Given the description of an element on the screen output the (x, y) to click on. 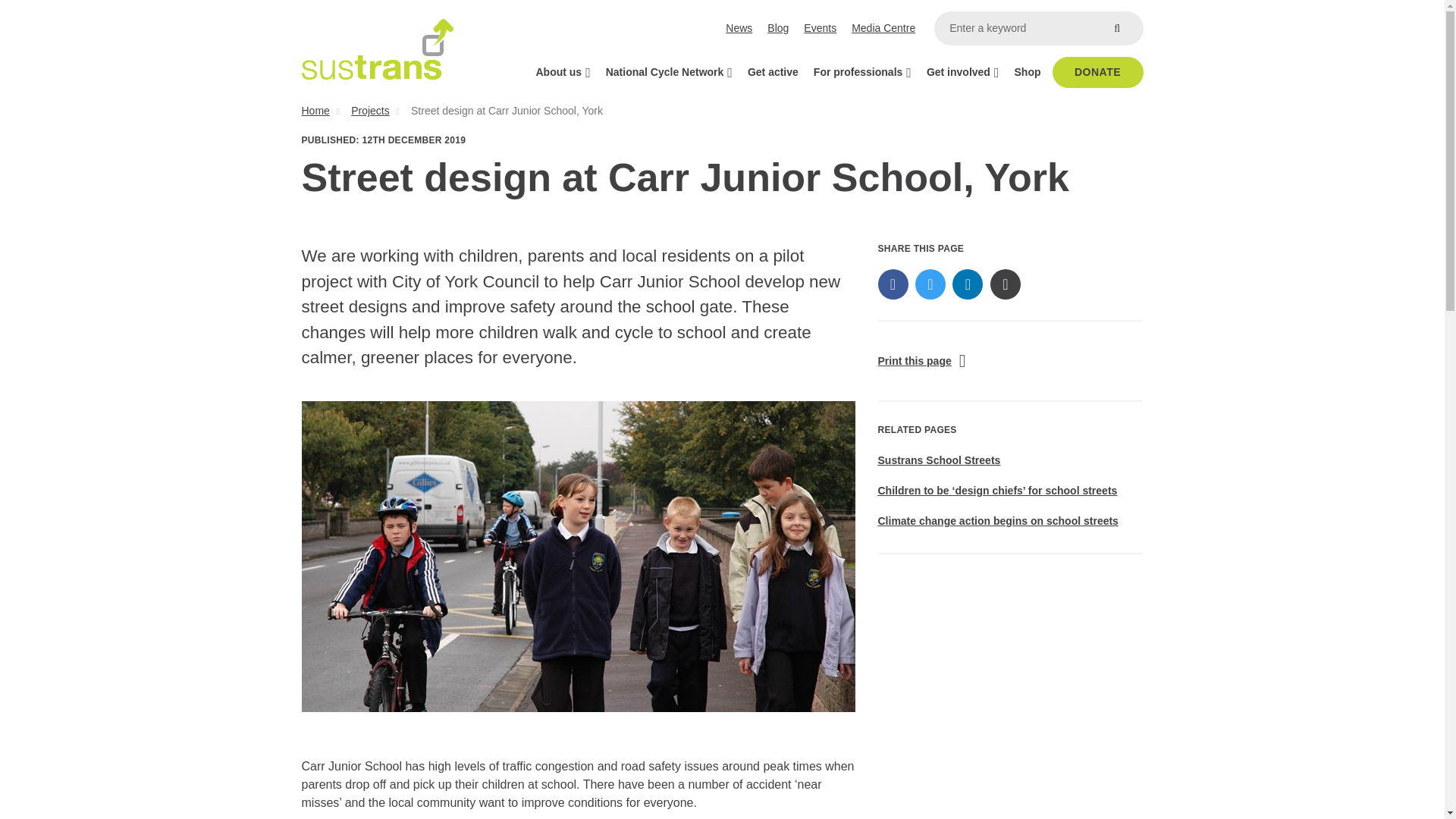
About us (561, 71)
News (738, 28)
SEARCH (1116, 28)
Media Centre (883, 28)
Events (820, 28)
Blog (778, 28)
National Cycle Network (668, 71)
Get active (772, 71)
For professionals (862, 71)
